Given the description of an element on the screen output the (x, y) to click on. 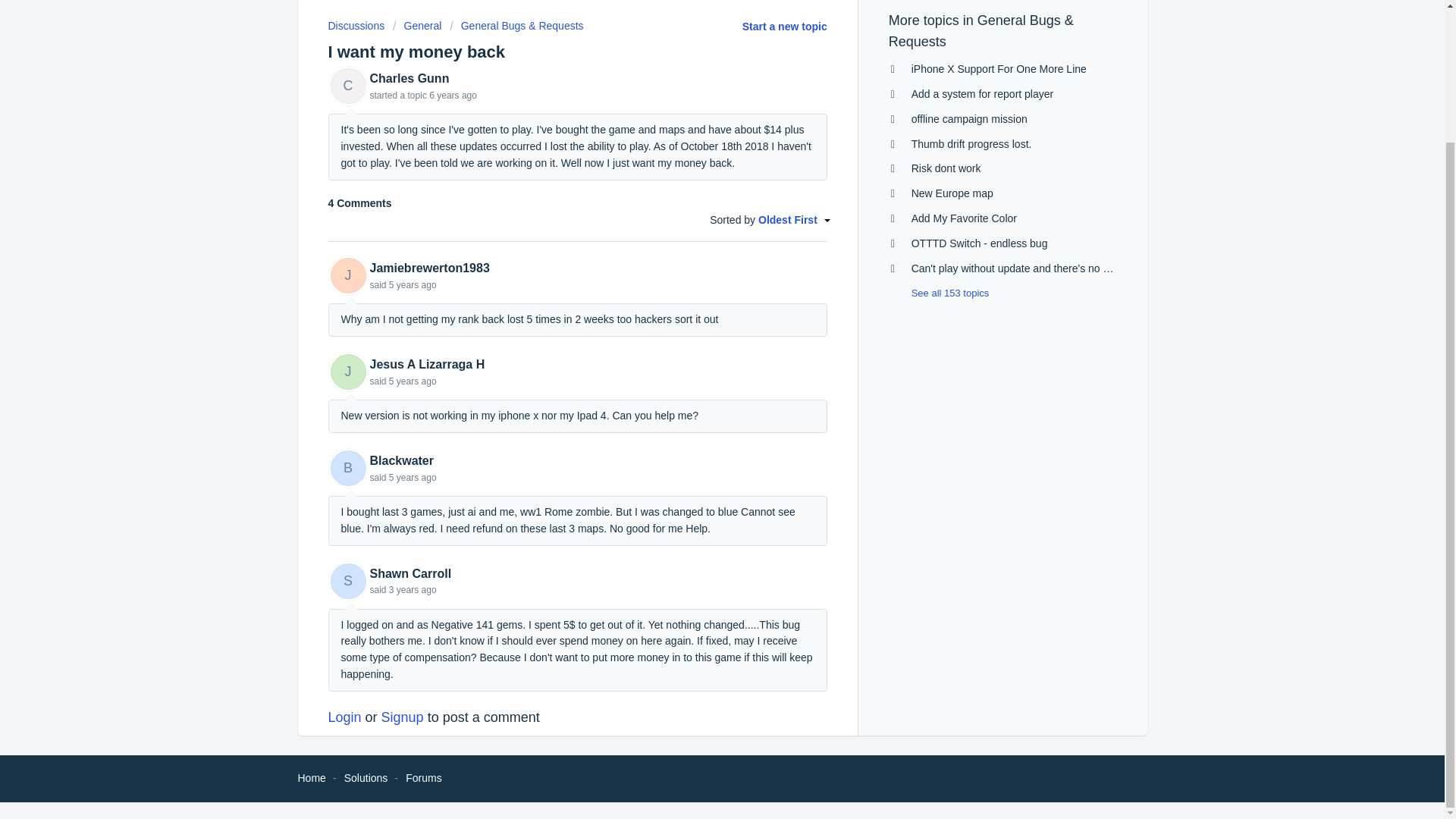
Thumb drift progress lost. (971, 143)
See all 153 topics (939, 292)
Start a new topic (784, 26)
offline campaign mission (969, 119)
Risk dont work (946, 168)
Fri, 10 Dec, 2021 at  9:12 PM (412, 589)
Fri, 26 Jul, 2019 at  3:09 AM (412, 477)
iPhone X Support For One More Line (998, 69)
Oldest First (792, 218)
Solutions (365, 777)
OTTTD Switch - endless bug (979, 243)
Tue, 13 Nov, 2018 at  8:27 AM (453, 95)
Discussions (355, 25)
General (417, 25)
Add My Favorite Color (963, 218)
